Given the description of an element on the screen output the (x, y) to click on. 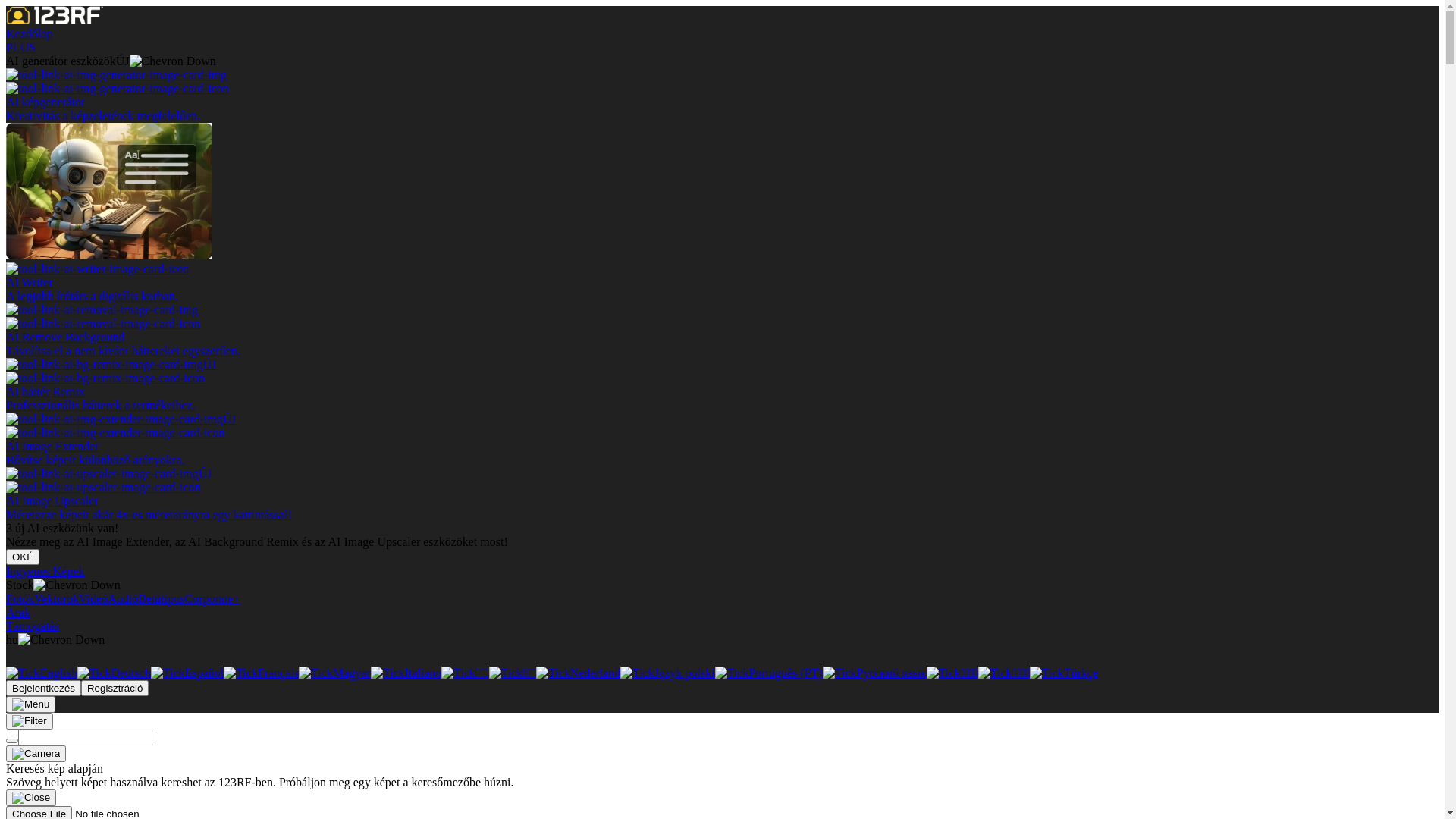
English Element type: text (41, 672)
Nederland Element type: text (578, 672)
Deutsch Element type: text (113, 672)
Italiano Element type: text (406, 672)
PLUS Element type: text (20, 46)
Vektorok Element type: text (56, 598)
Magyar Element type: text (334, 672)
Corporate+ Element type: text (211, 598)
